Given the description of an element on the screen output the (x, y) to click on. 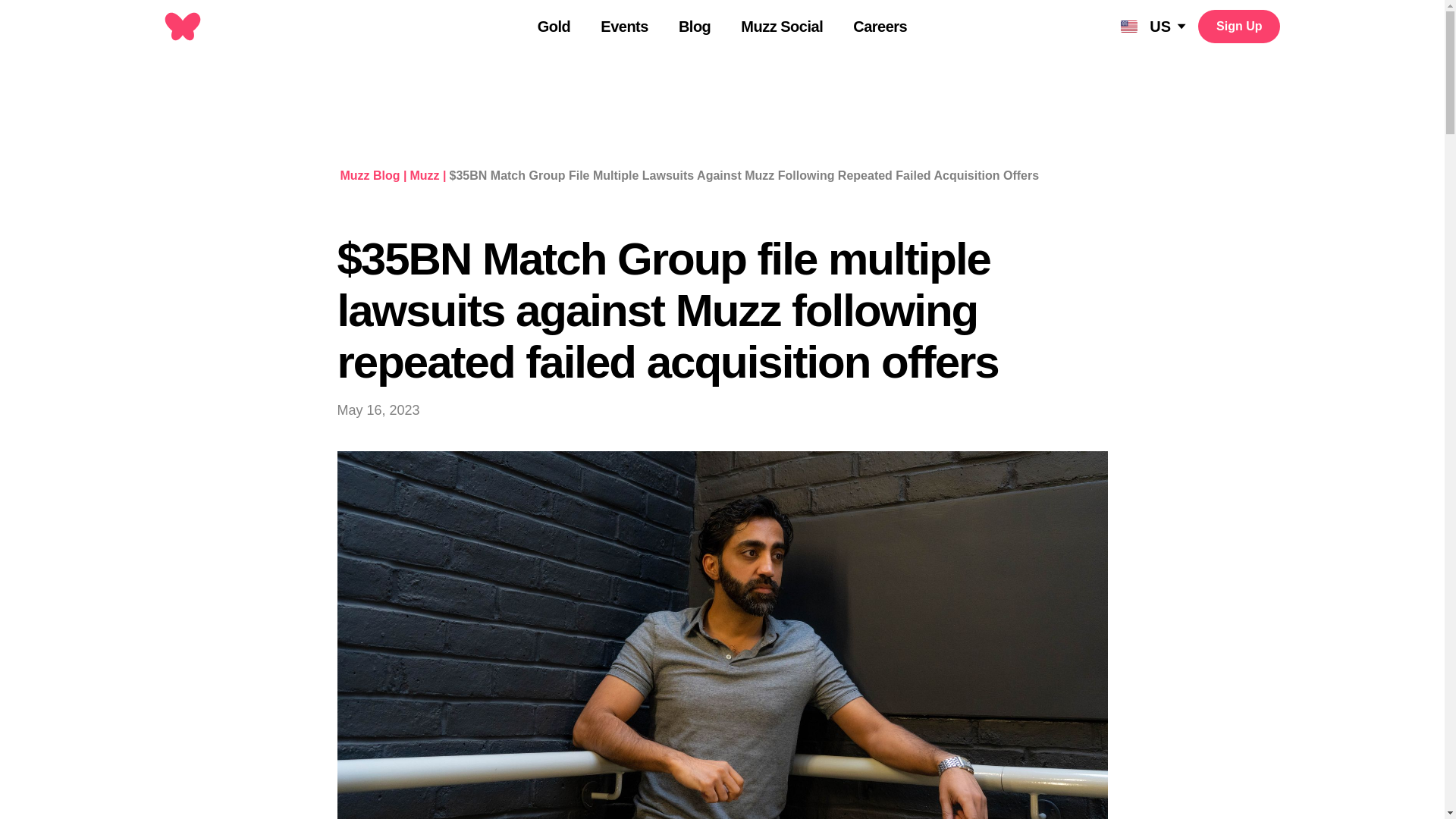
Gold (553, 27)
Muzz Social (781, 27)
US (1153, 26)
Sign Up (1238, 26)
Blog (694, 27)
Careers (880, 27)
Events (623, 27)
